Given the description of an element on the screen output the (x, y) to click on. 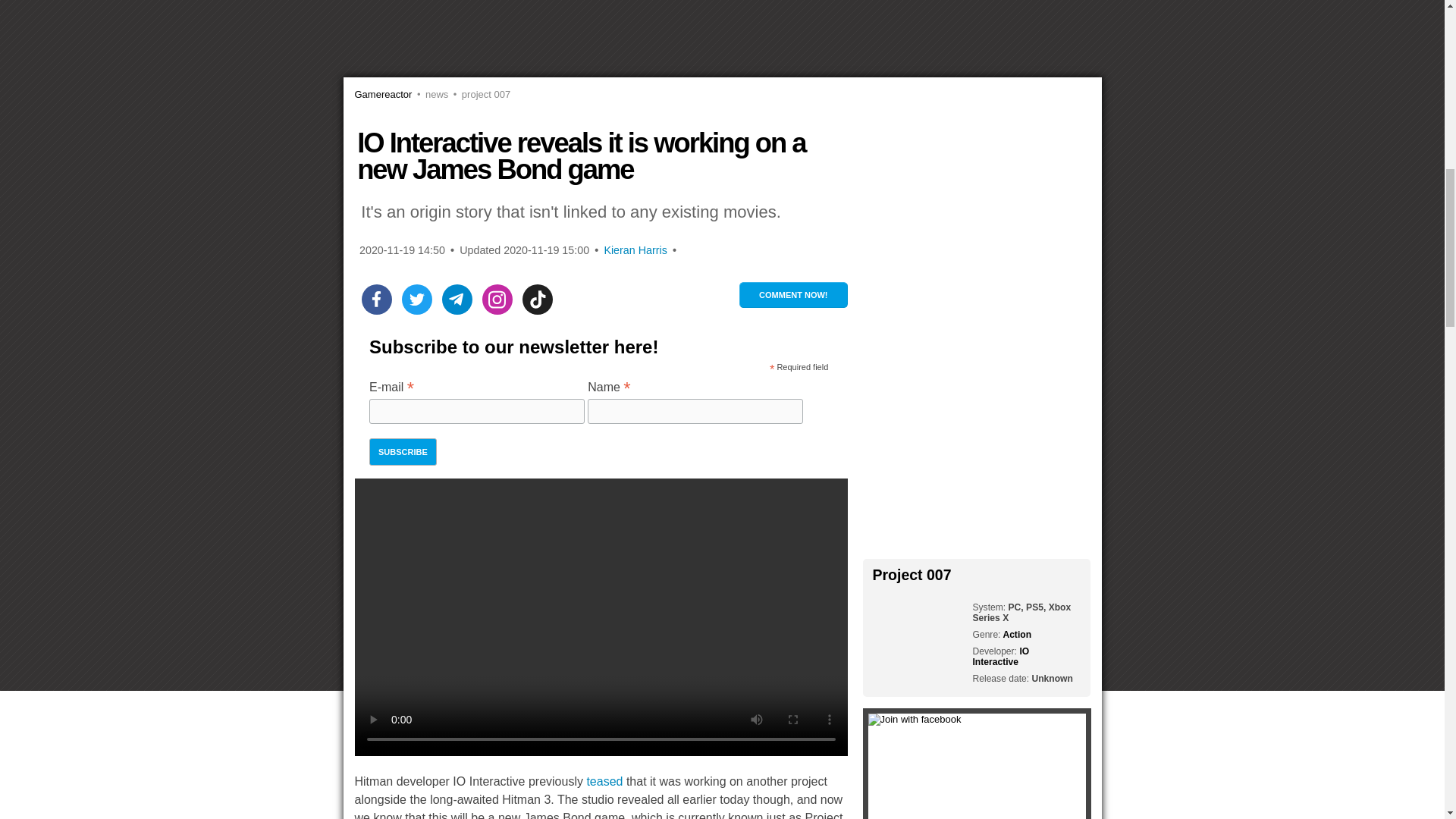
Gamereactor (383, 93)
Project 007 (479, 93)
Gamereactor news (430, 93)
Subscribe (402, 452)
